Given the description of an element on the screen output the (x, y) to click on. 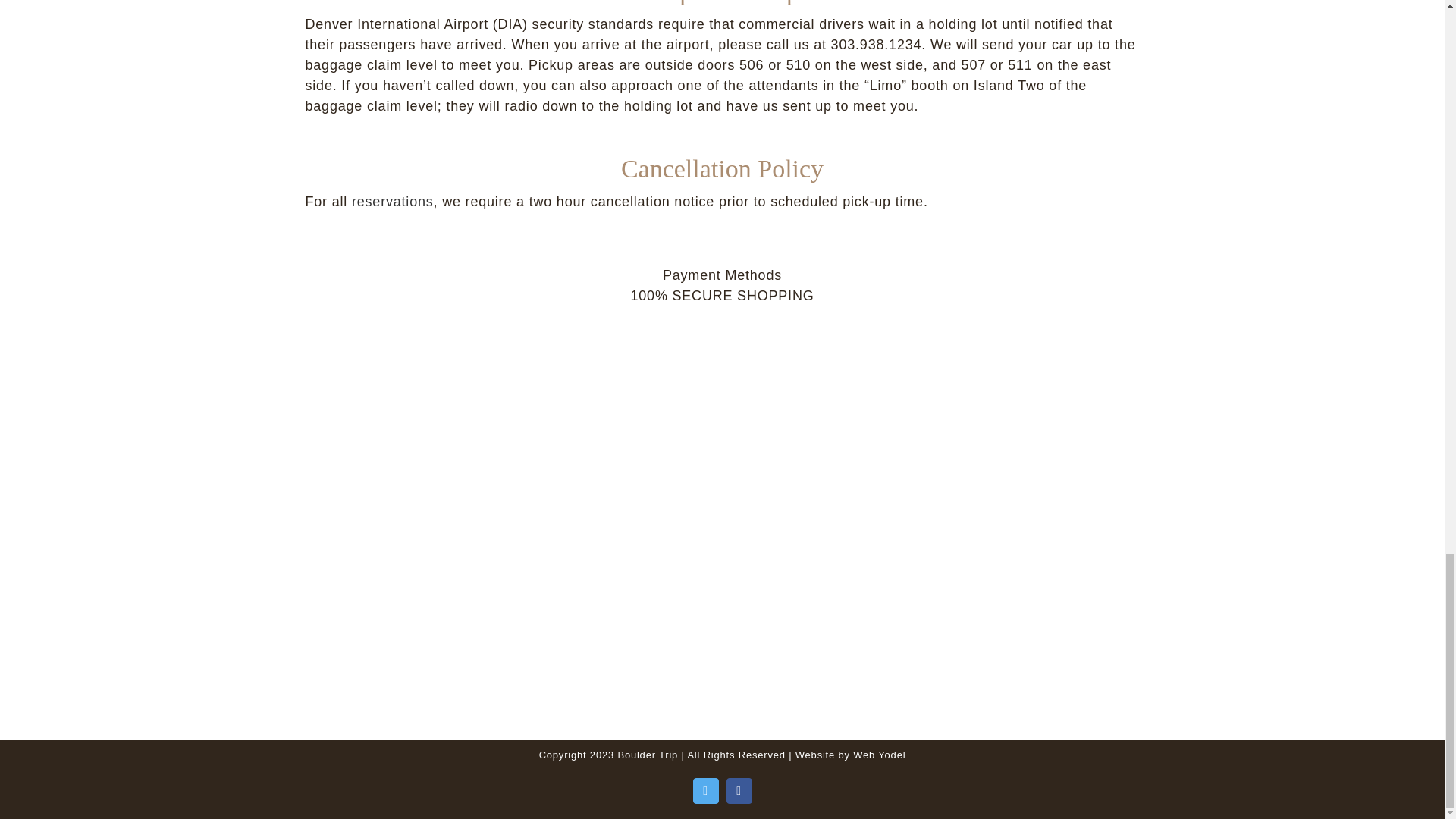
Facebook (739, 790)
creditcards (722, 500)
Facebook (739, 790)
Web Yodel (879, 754)
reservations (392, 201)
Twitter (706, 790)
Twitter (706, 790)
